Given the description of an element on the screen output the (x, y) to click on. 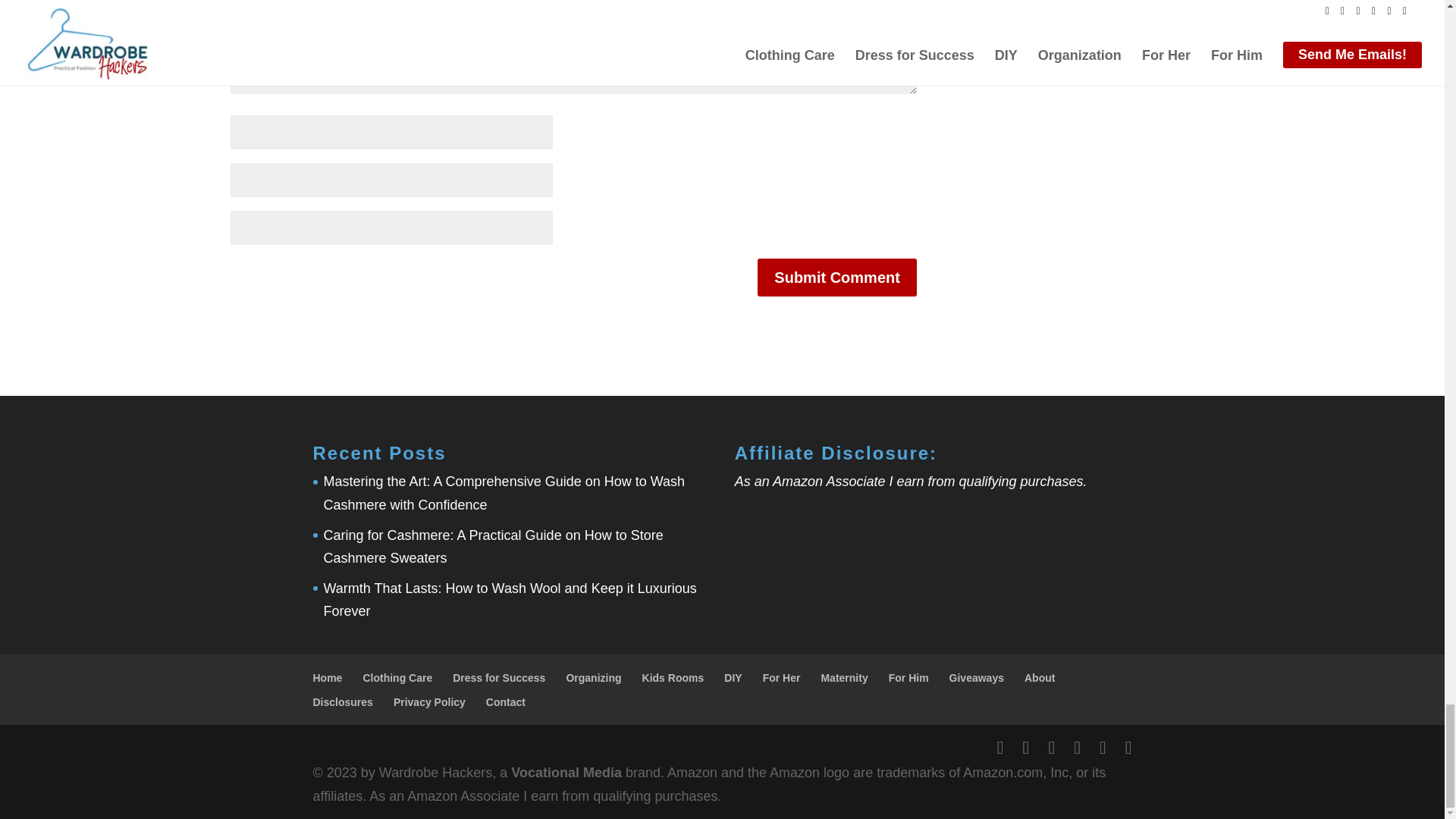
Submit Comment (837, 277)
